Given the description of an element on the screen output the (x, y) to click on. 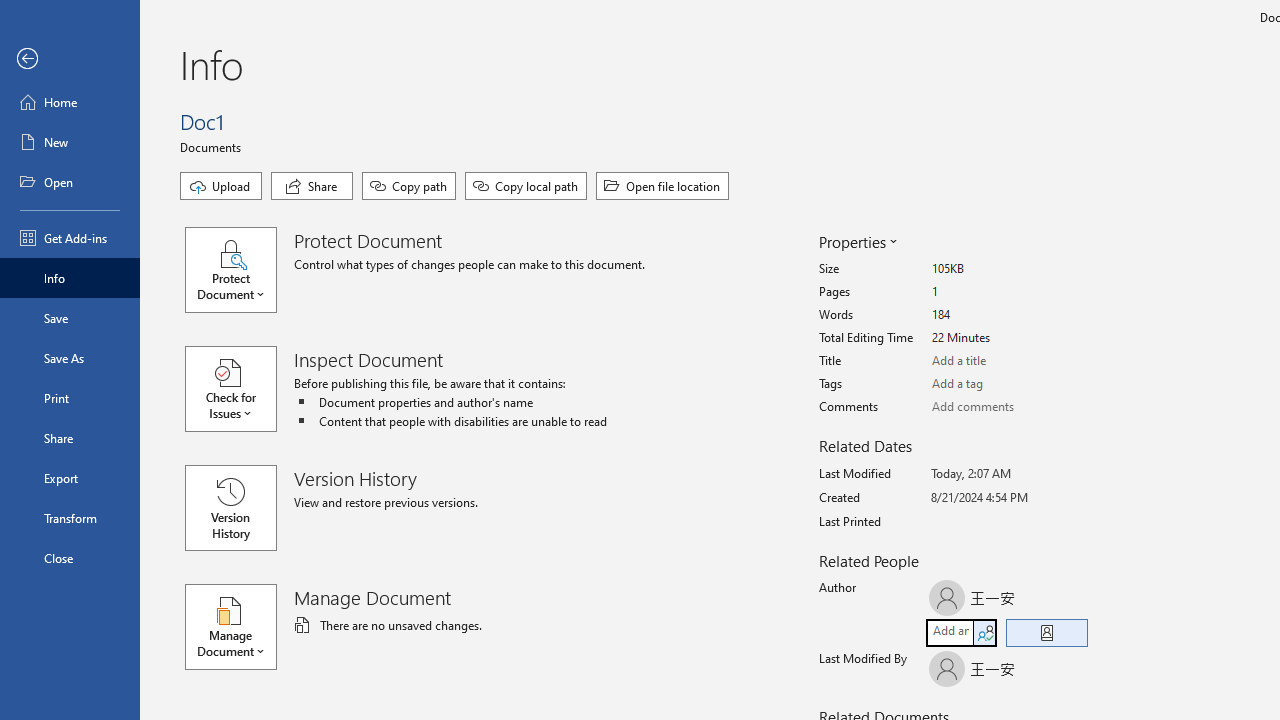
Open file location (662, 186)
Add an author (949, 632)
Manage Document (239, 626)
Get Add-ins (69, 237)
Properties (856, 241)
Transform (69, 517)
Title (1006, 361)
Size (1006, 269)
Documents (213, 146)
Export (69, 477)
